Given the description of an element on the screen output the (x, y) to click on. 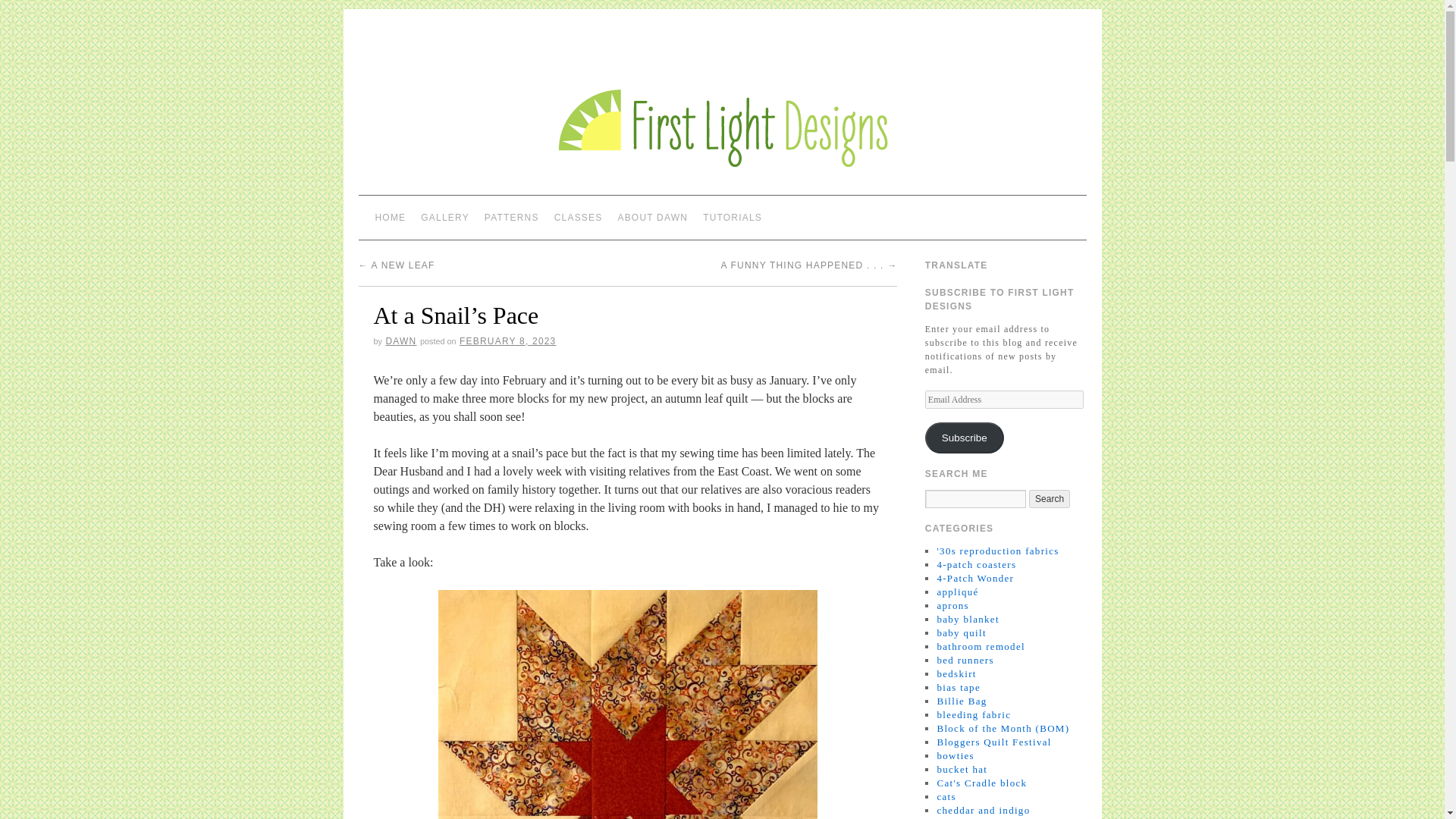
9:37 pm (508, 340)
ABOUT DAWN (652, 217)
FEBRUARY 8, 2023 (508, 340)
GALLERY (445, 217)
View all posts by Dawn (400, 340)
First Light Designs (497, 44)
Search (1049, 498)
FIRST LIGHT DESIGNS (497, 44)
HOME (389, 217)
TUTORIALS (732, 217)
